Given the description of an element on the screen output the (x, y) to click on. 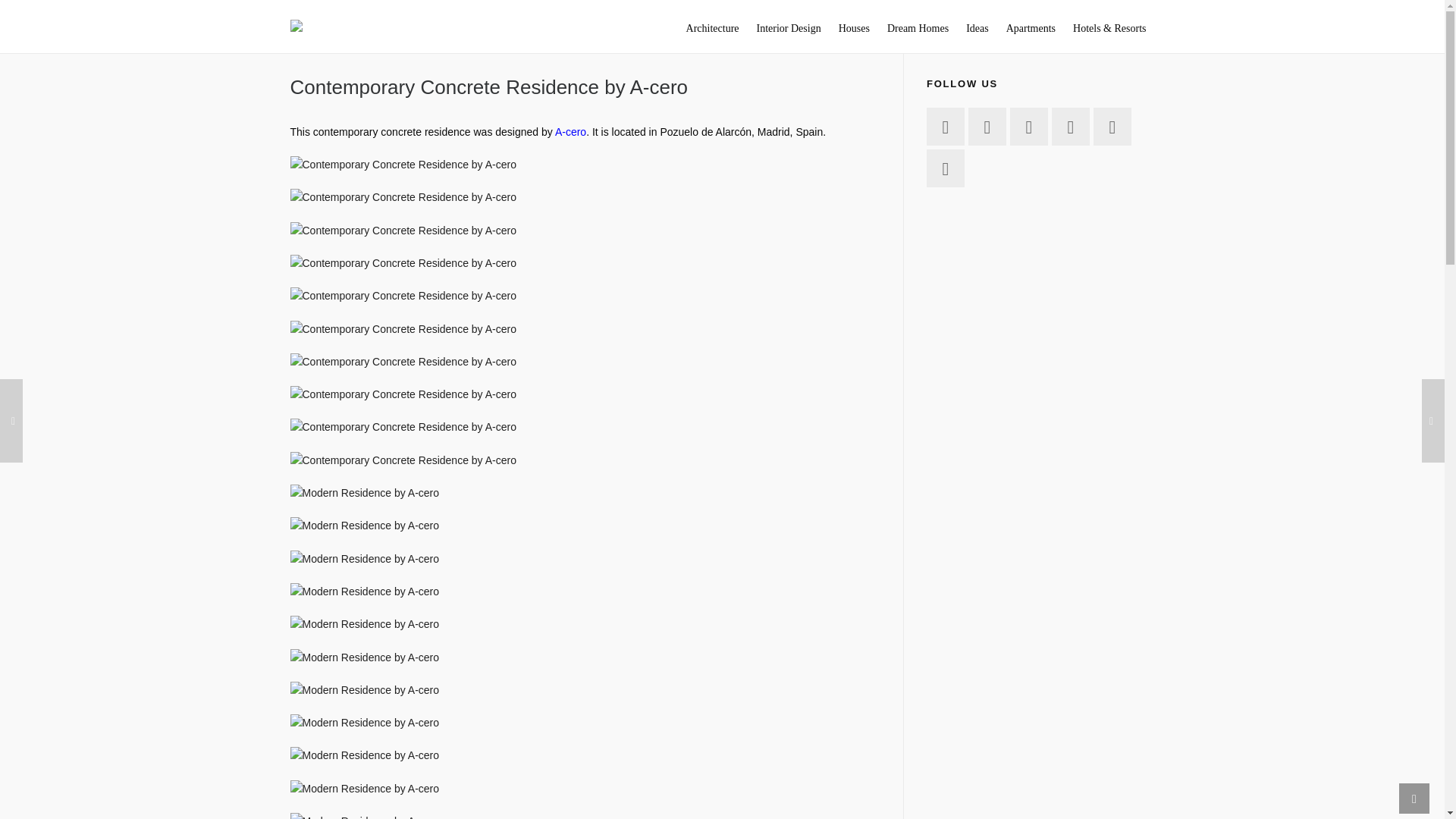
Dream Homes (917, 26)
Houses (853, 26)
A-cero (570, 132)
Apartments (1030, 26)
Architecture (713, 26)
Interior Design (788, 26)
